Given the description of an element on the screen output the (x, y) to click on. 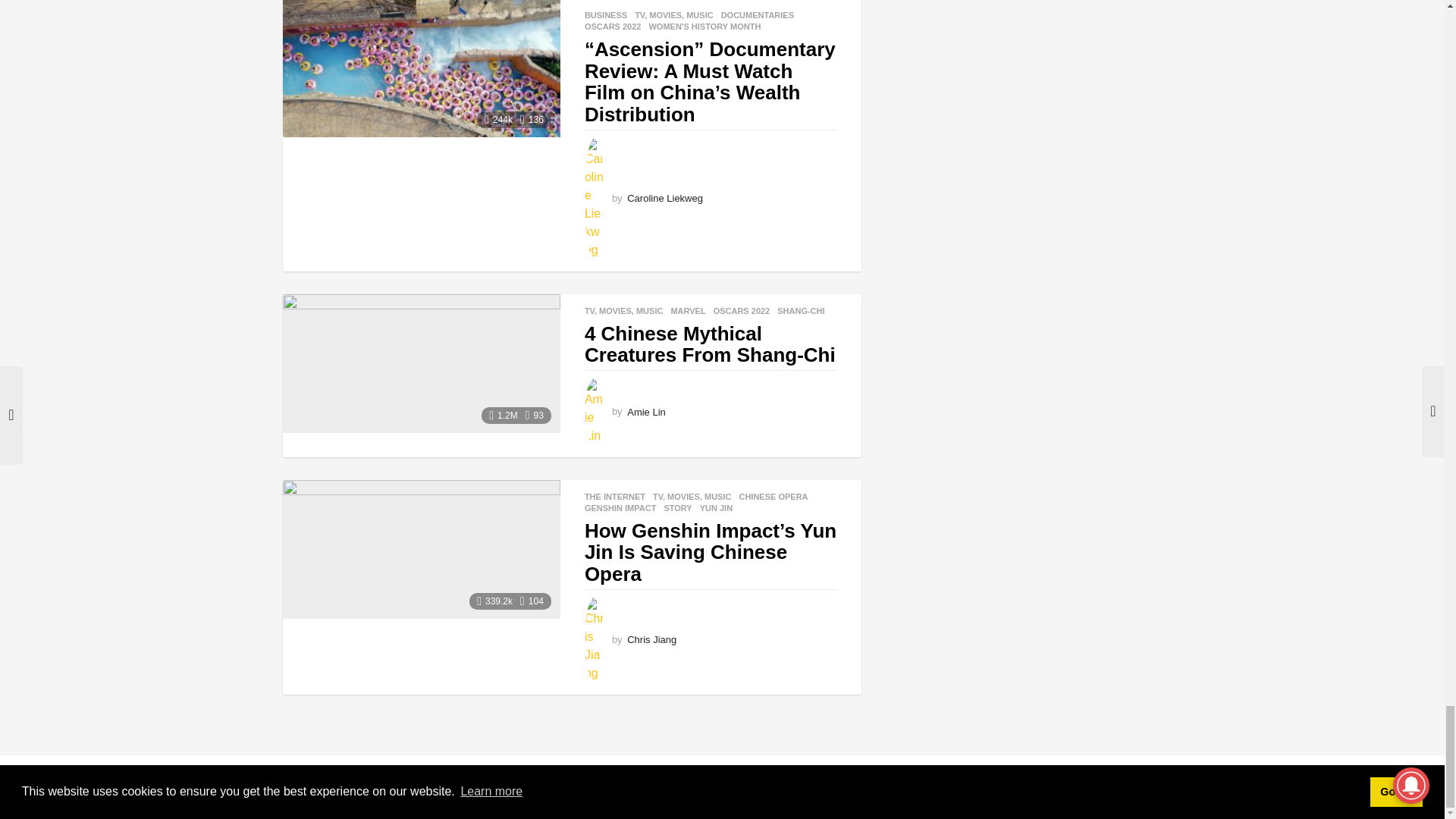
4 Chinese Mythical Creatures From Shang-Chi (420, 363)
